Given the description of an element on the screen output the (x, y) to click on. 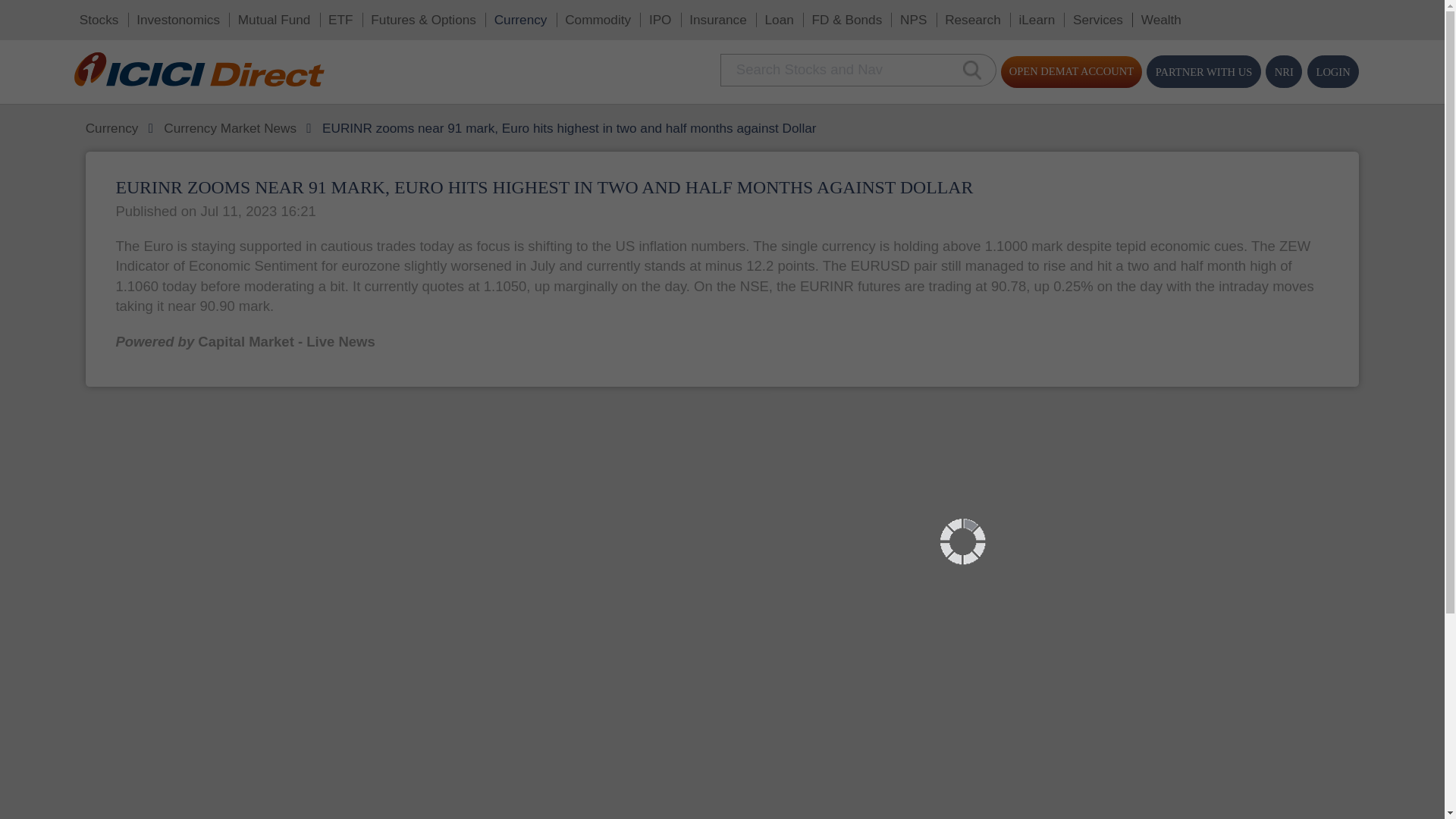
Mutual Fund (207, 15)
ETF (258, 15)
Stocks (74, 15)
Investonomics (134, 15)
Currency (393, 15)
